Given the description of an element on the screen output the (x, y) to click on. 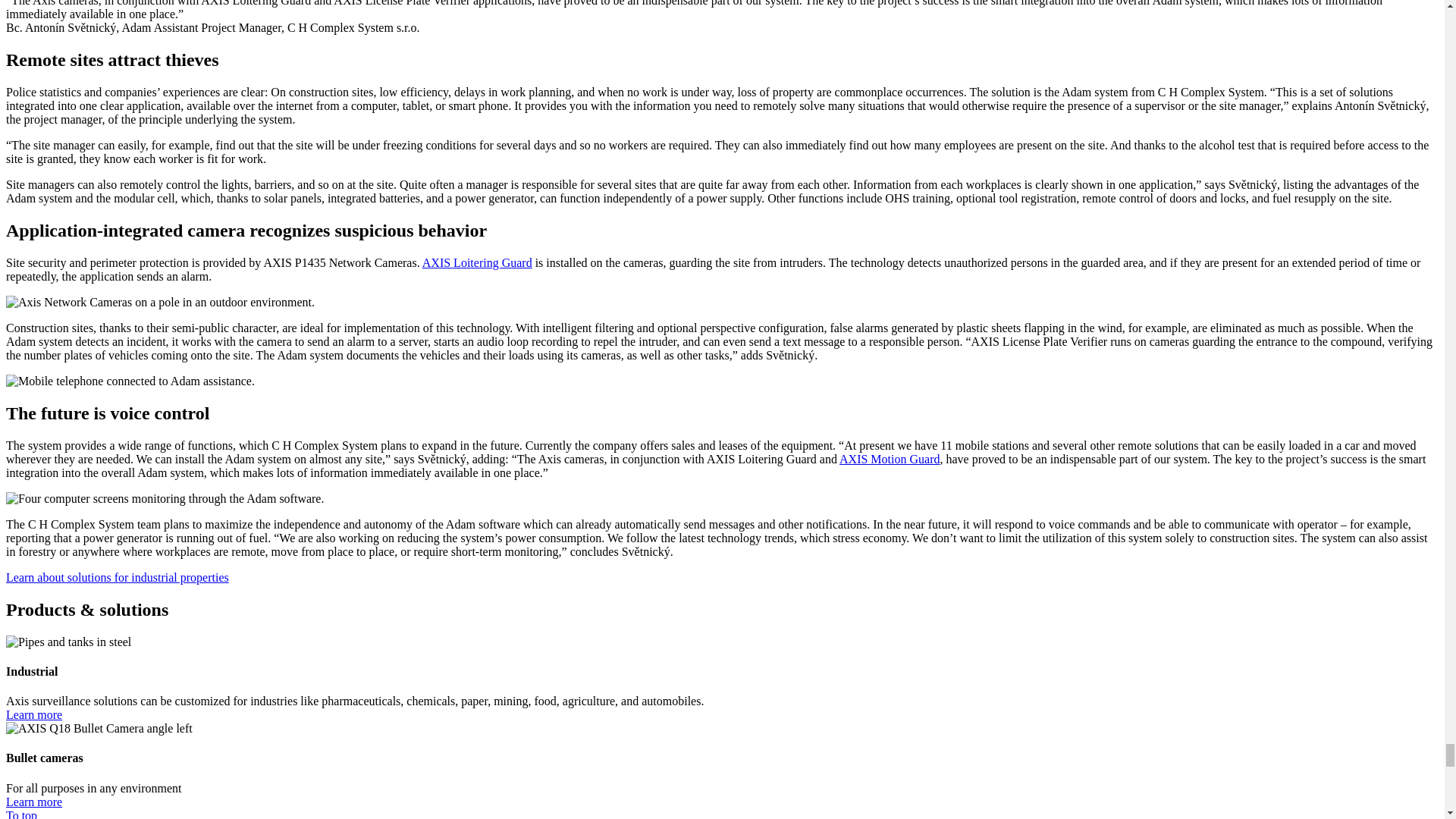
AXIS Loitering Guard (477, 262)
To top (21, 814)
AXIS Motion Guard (889, 459)
